Given the description of an element on the screen output the (x, y) to click on. 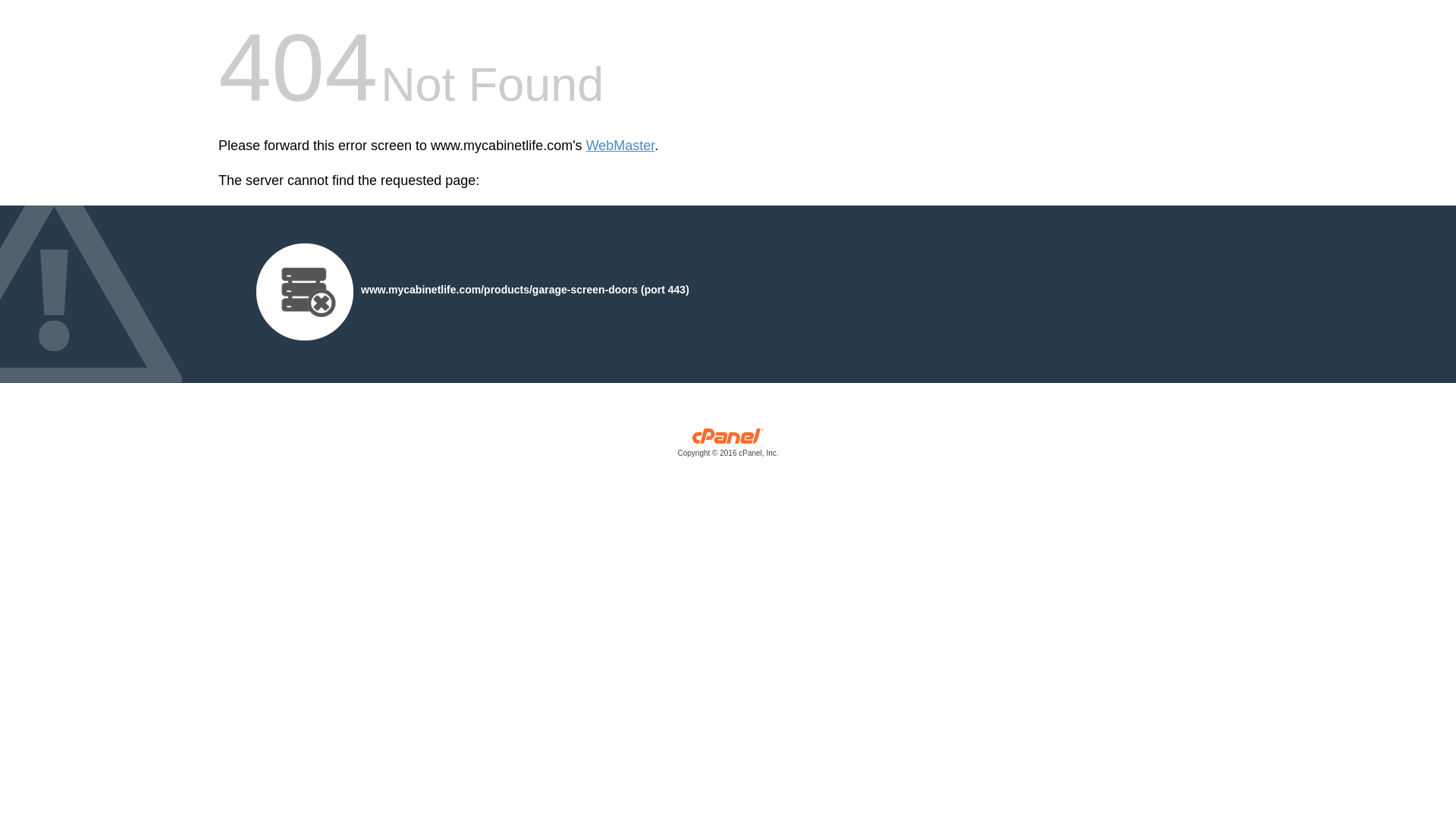
WebMaster (620, 145)
cPanel, Inc. (727, 446)
